Given the description of an element on the screen output the (x, y) to click on. 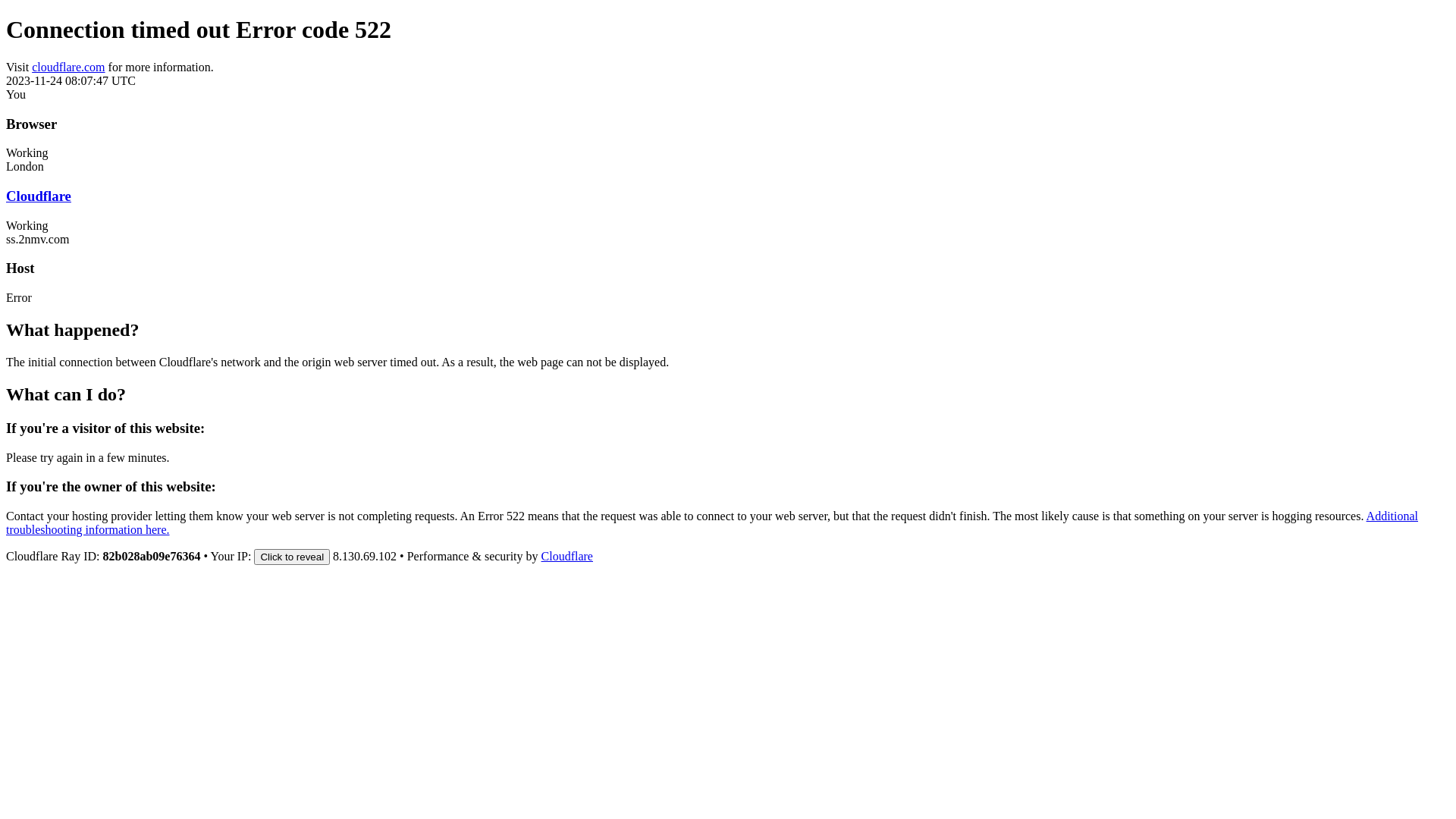
cloudflare.com Element type: text (67, 66)
Additional troubleshooting information here. Element type: text (712, 522)
Cloudflare Element type: text (38, 195)
Cloudflare Element type: text (567, 555)
Click to reveal Element type: text (291, 556)
